Given the description of an element on the screen output the (x, y) to click on. 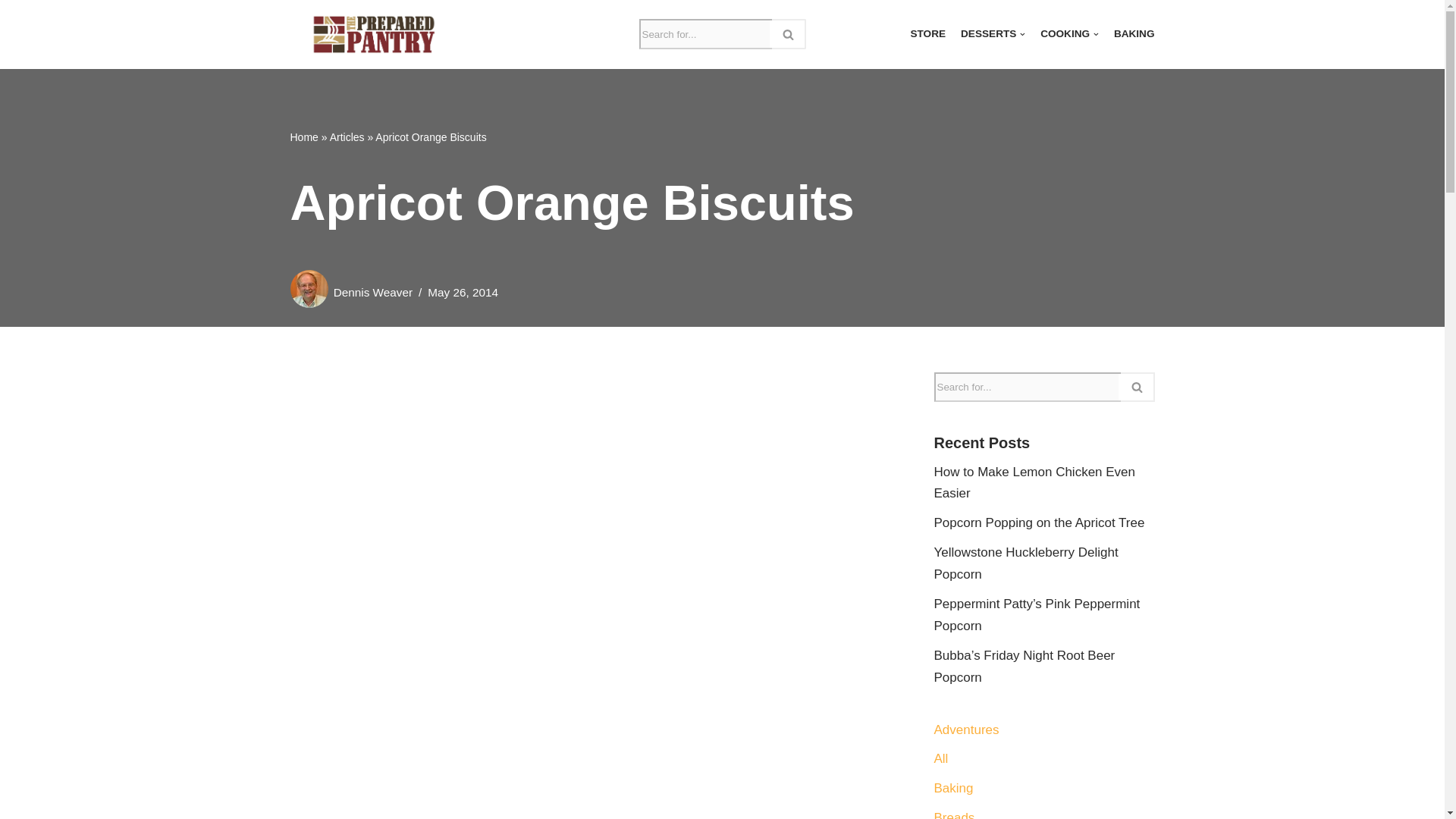
Dennis Weaver (372, 291)
Home (303, 137)
Posts by Dennis Weaver (372, 291)
DESSERTS (992, 34)
Articles (347, 137)
STORE (927, 34)
BAKING (1133, 34)
Skip to content (11, 31)
COOKING (1070, 34)
